Given the description of an element on the screen output the (x, y) to click on. 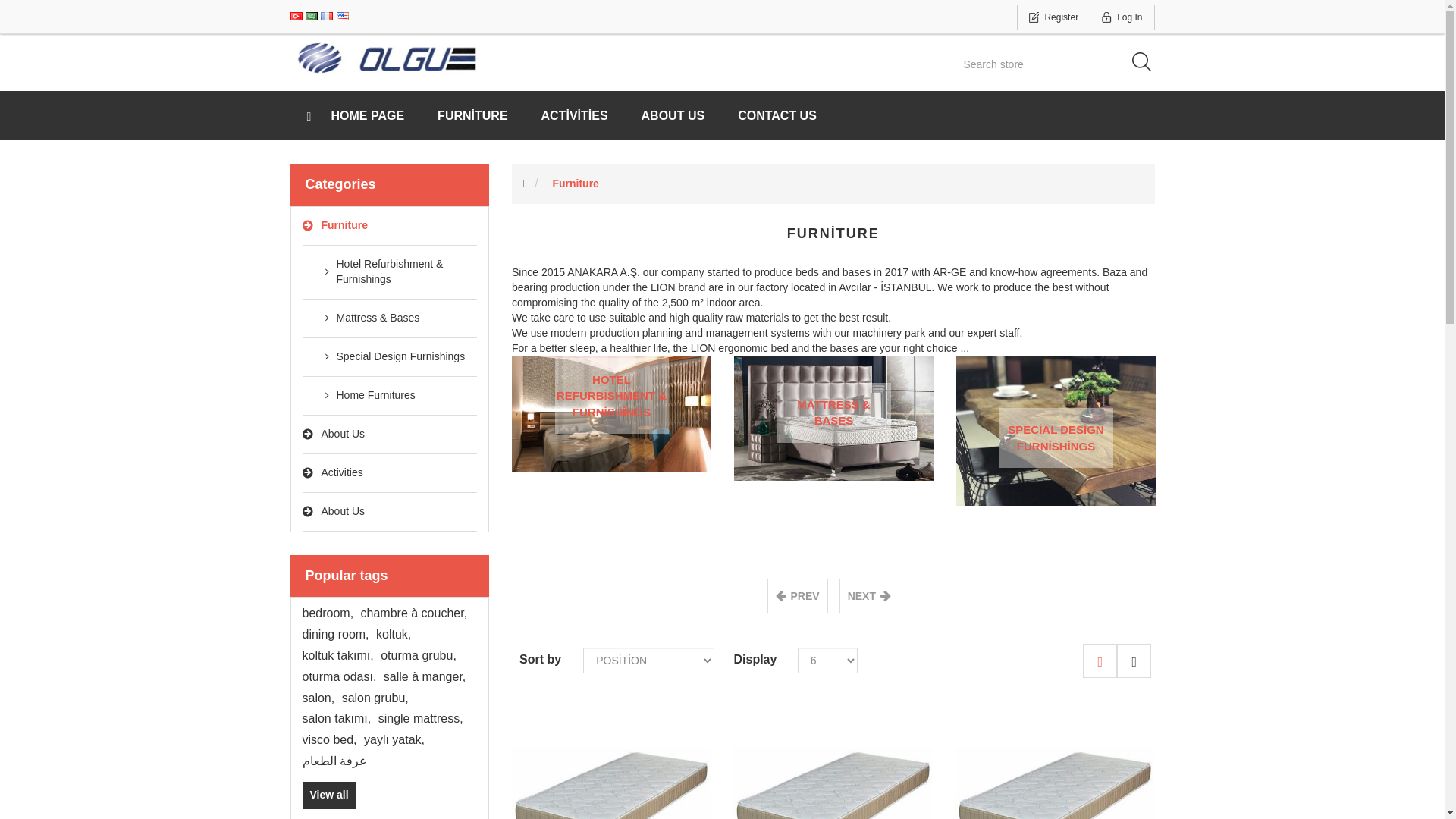
HOME PAGE (354, 115)
media.category.imagelinktitleformat (611, 412)
media.category.imagelinktitleformat (832, 413)
media.category.imagelinktitleformat (833, 417)
media.category.imagelinktitleformat (611, 395)
English (342, 16)
media.category.imagelinktitleformat (611, 414)
ACTIVITIES (574, 115)
Register (1053, 17)
FURNITURE (472, 115)
